Given the description of an element on the screen output the (x, y) to click on. 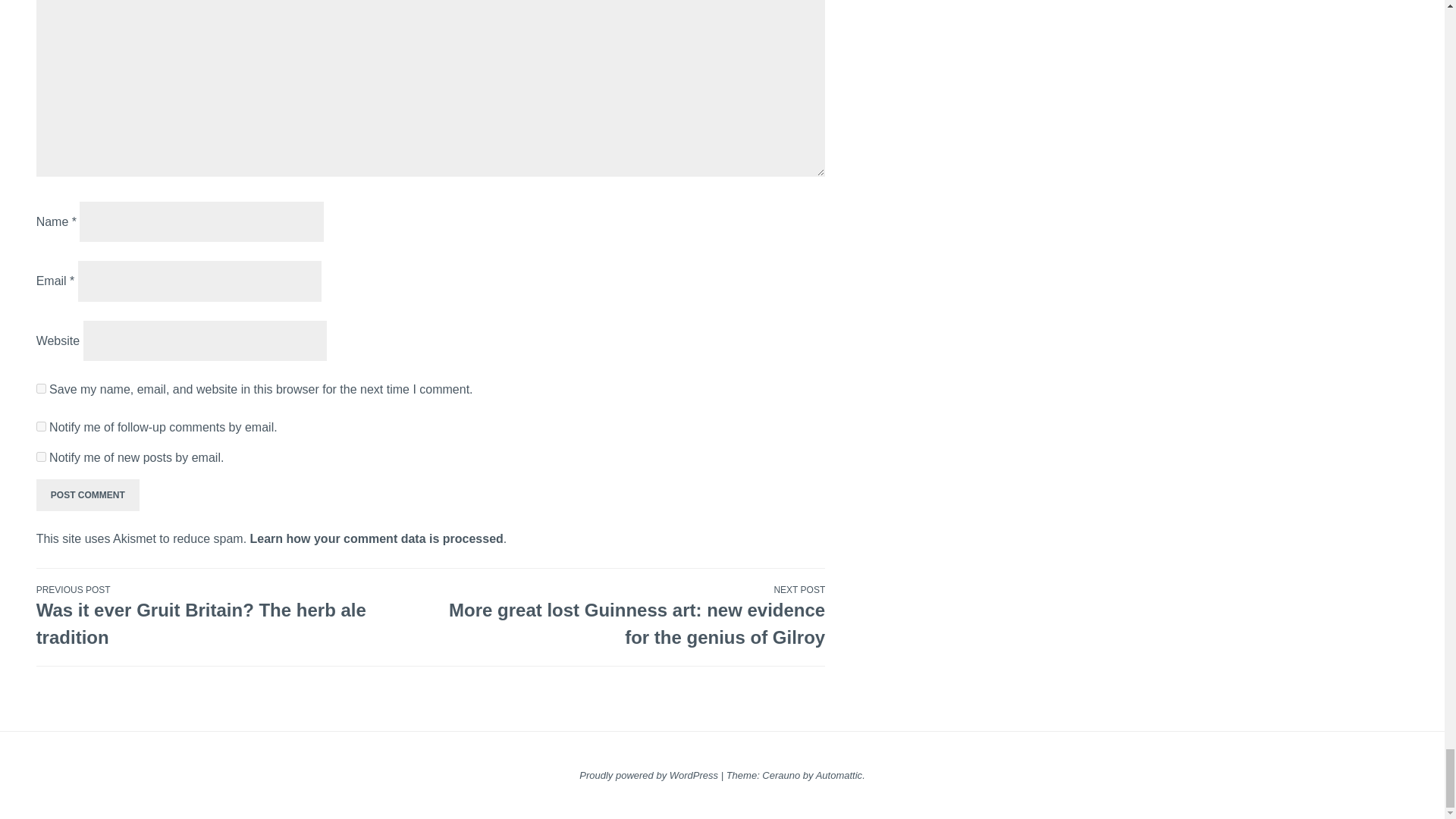
Post Comment (87, 495)
yes (41, 388)
subscribe (41, 426)
subscribe (41, 456)
